Given the description of an element on the screen output the (x, y) to click on. 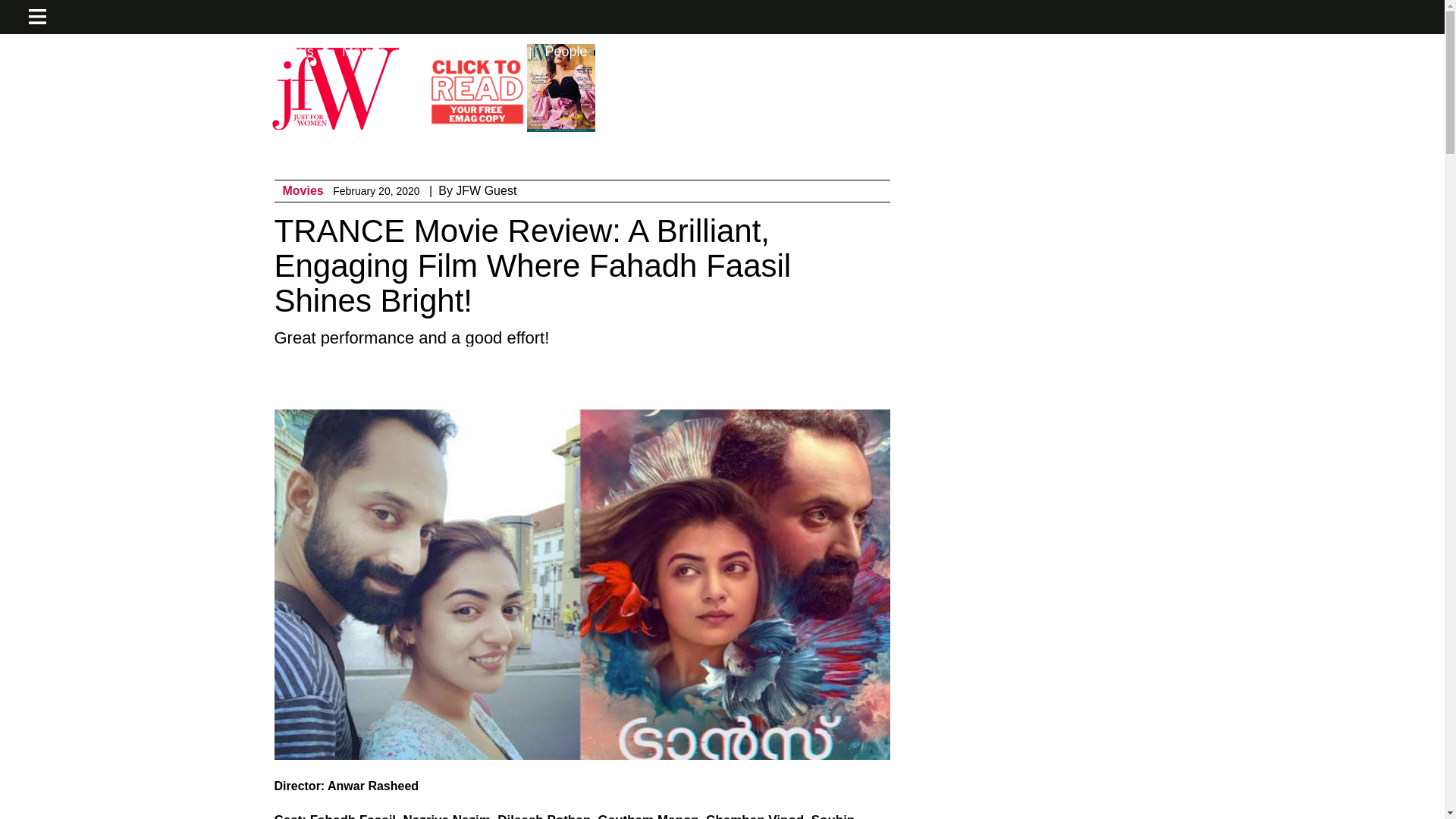
Fashion (76, 52)
JFW Originals (271, 52)
Movies (363, 52)
People (565, 52)
Movies (302, 190)
Movies (302, 190)
Share with Friend (678, 380)
JFW Events (166, 52)
